Given the description of an element on the screen output the (x, y) to click on. 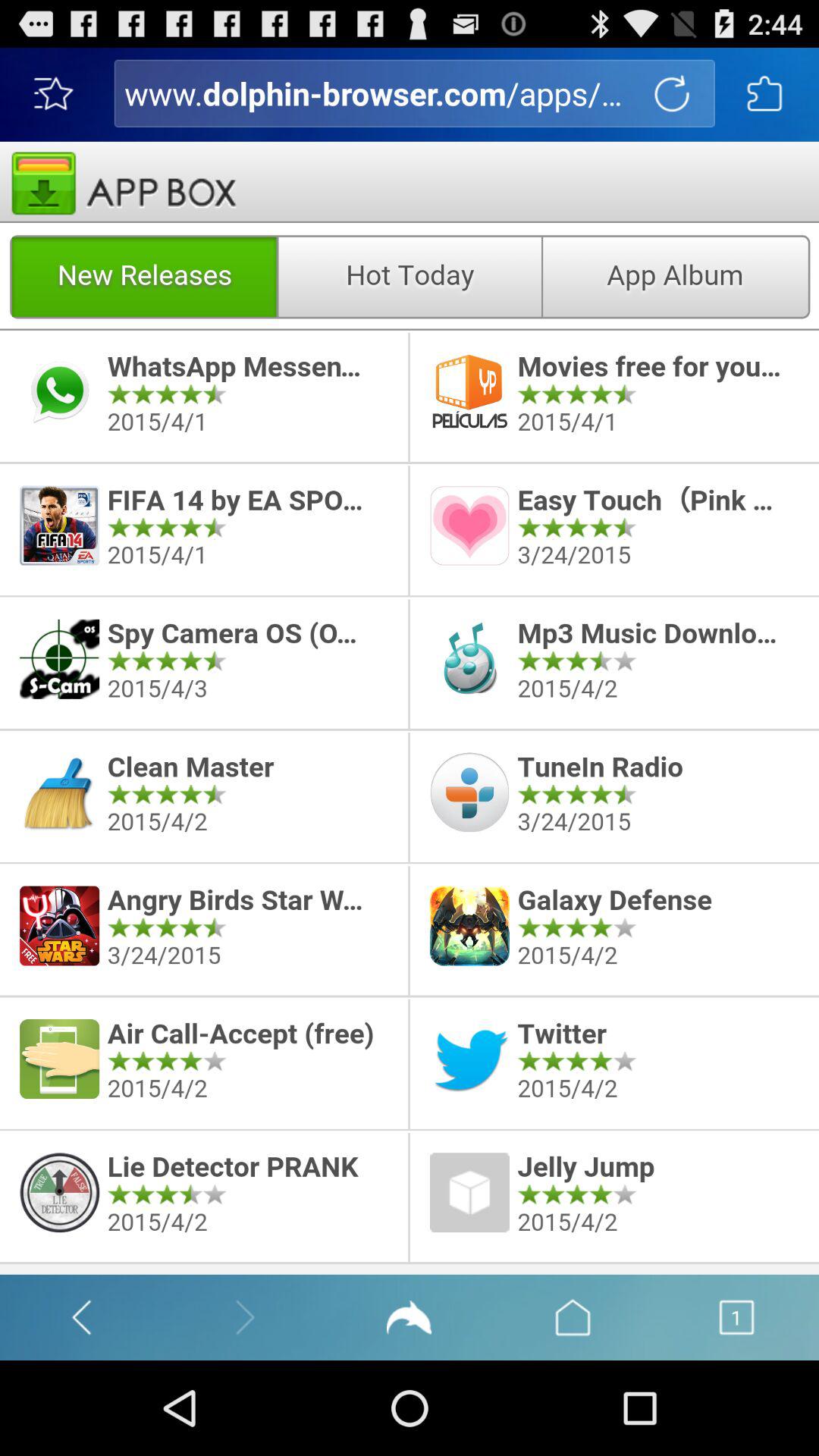
app box body button (409, 707)
